Given the description of an element on the screen output the (x, y) to click on. 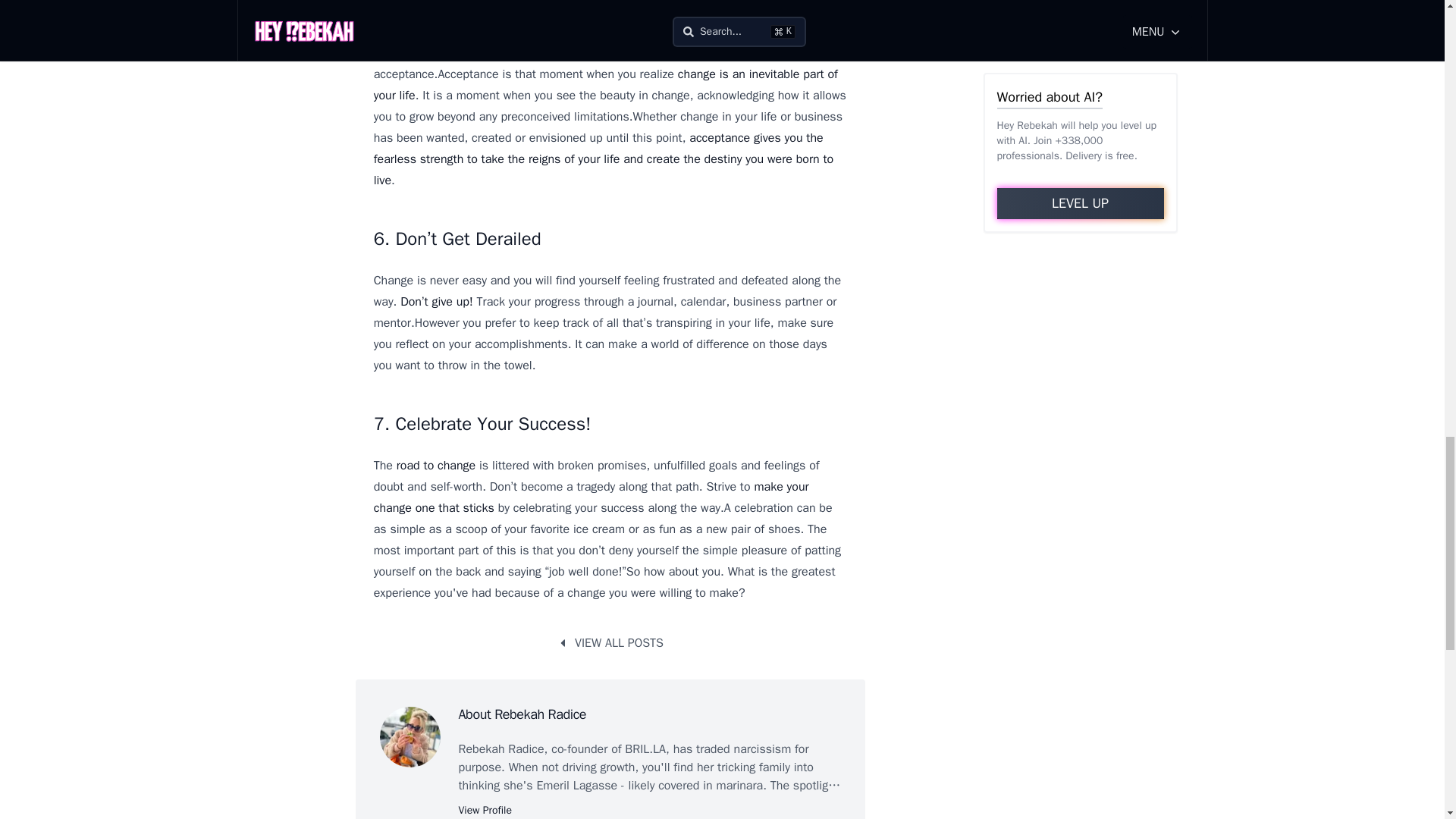
View Profile (484, 809)
BRIL.LA (644, 749)
VIEW ALL POSTS (609, 643)
